Given the description of an element on the screen output the (x, y) to click on. 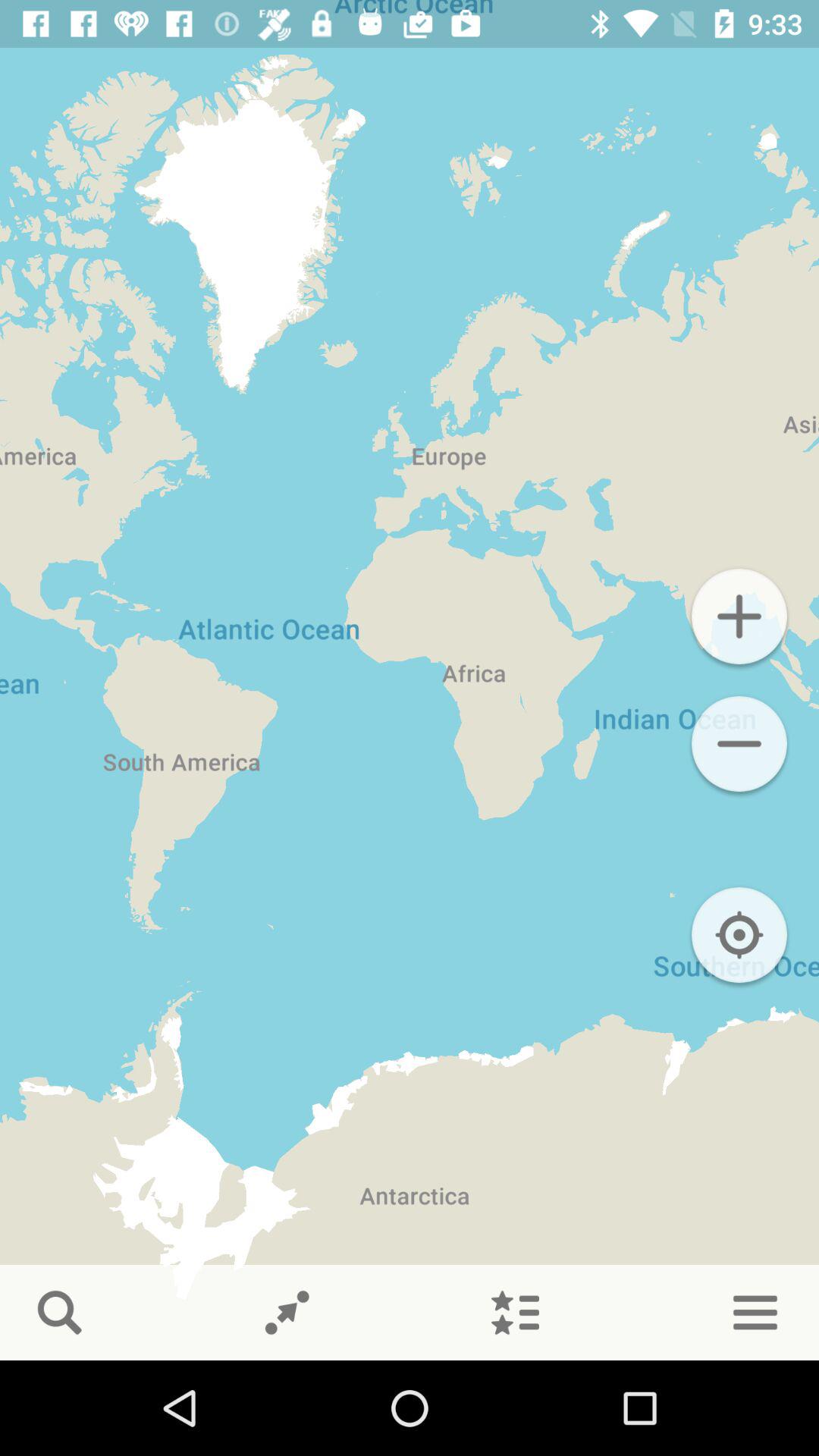
show starred places (515, 1312)
